Given the description of an element on the screen output the (x, y) to click on. 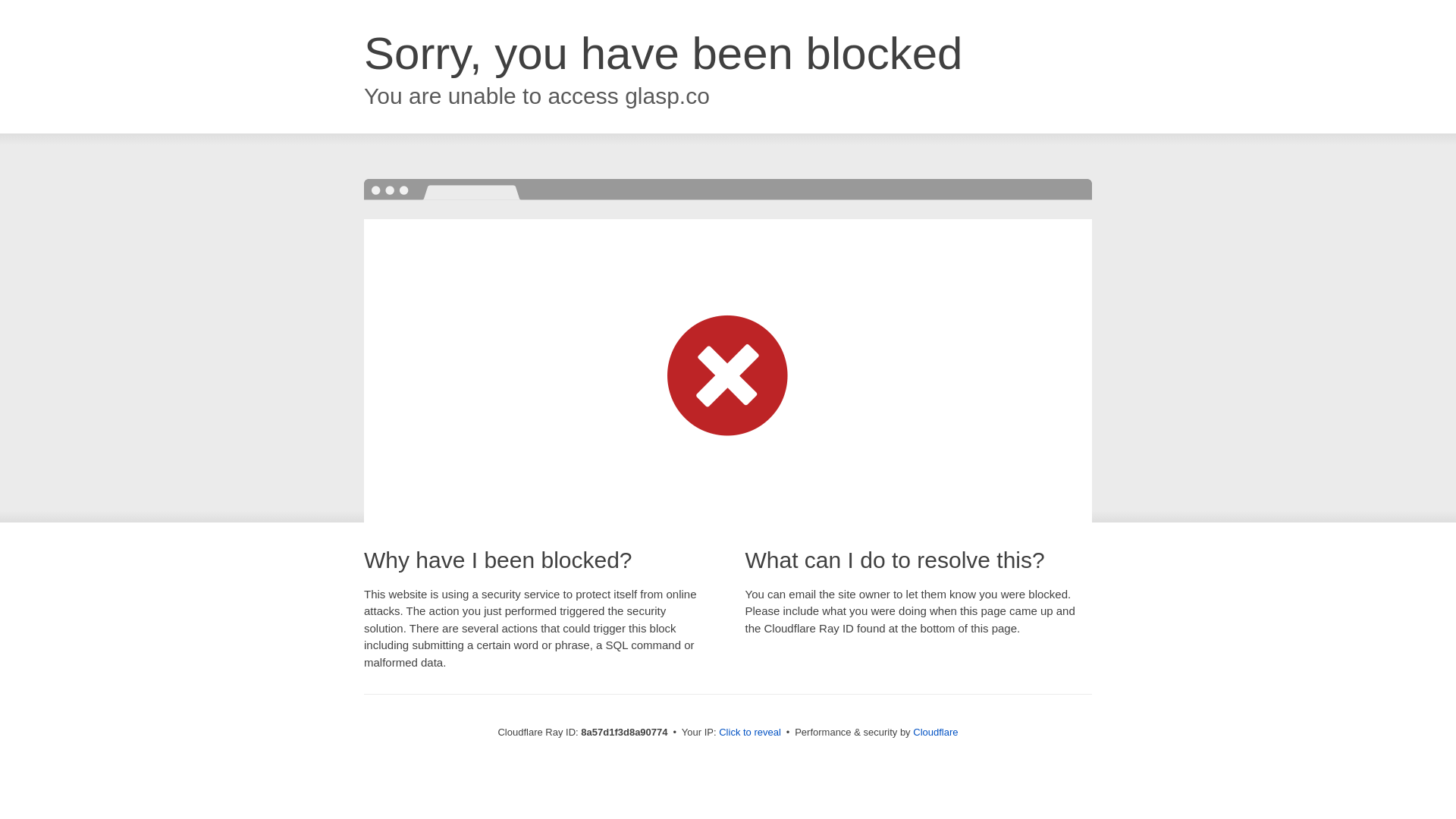
Cloudflare (935, 731)
Click to reveal (749, 732)
